Given the description of an element on the screen output the (x, y) to click on. 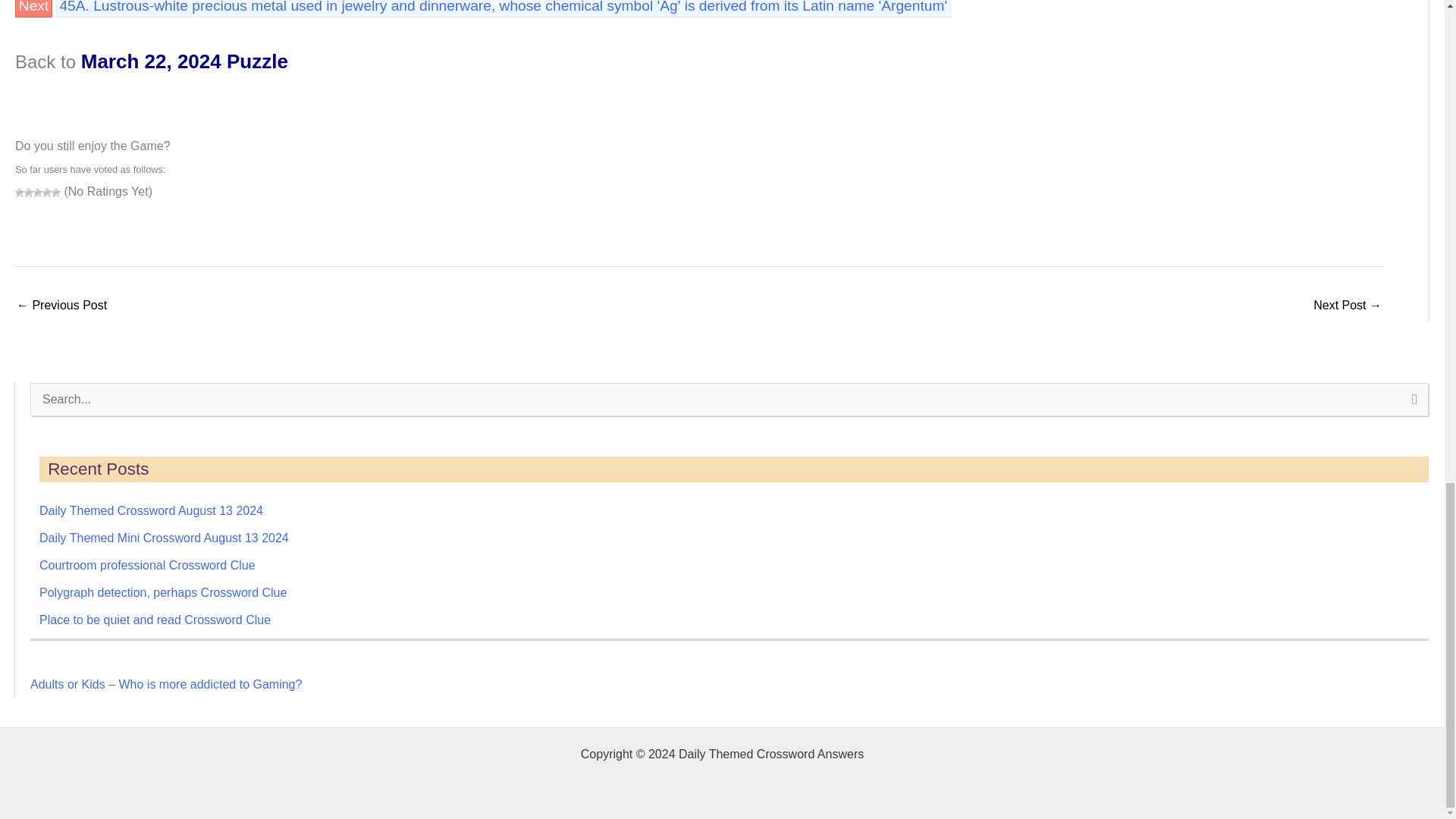
March 22, 2024 Puzzle (184, 60)
3 Stars (37, 192)
Courtroom professional Crossword Clue (147, 564)
2 Stars (28, 192)
Place to be quiet and read Crossword Clue (154, 619)
Polygraph detection, perhaps Crossword Clue (162, 592)
Comrade-in-arms, say Crossword Clue (61, 306)
Daily Themed Mini Crossword August 13 2024 (163, 537)
5 Stars (55, 192)
